Given the description of an element on the screen output the (x, y) to click on. 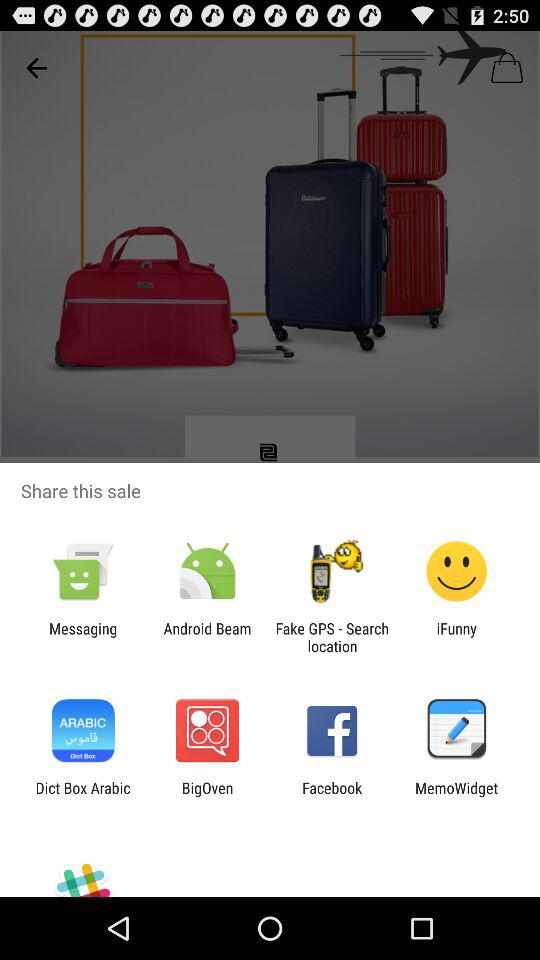
press the dict box arabic item (82, 796)
